Given the description of an element on the screen output the (x, y) to click on. 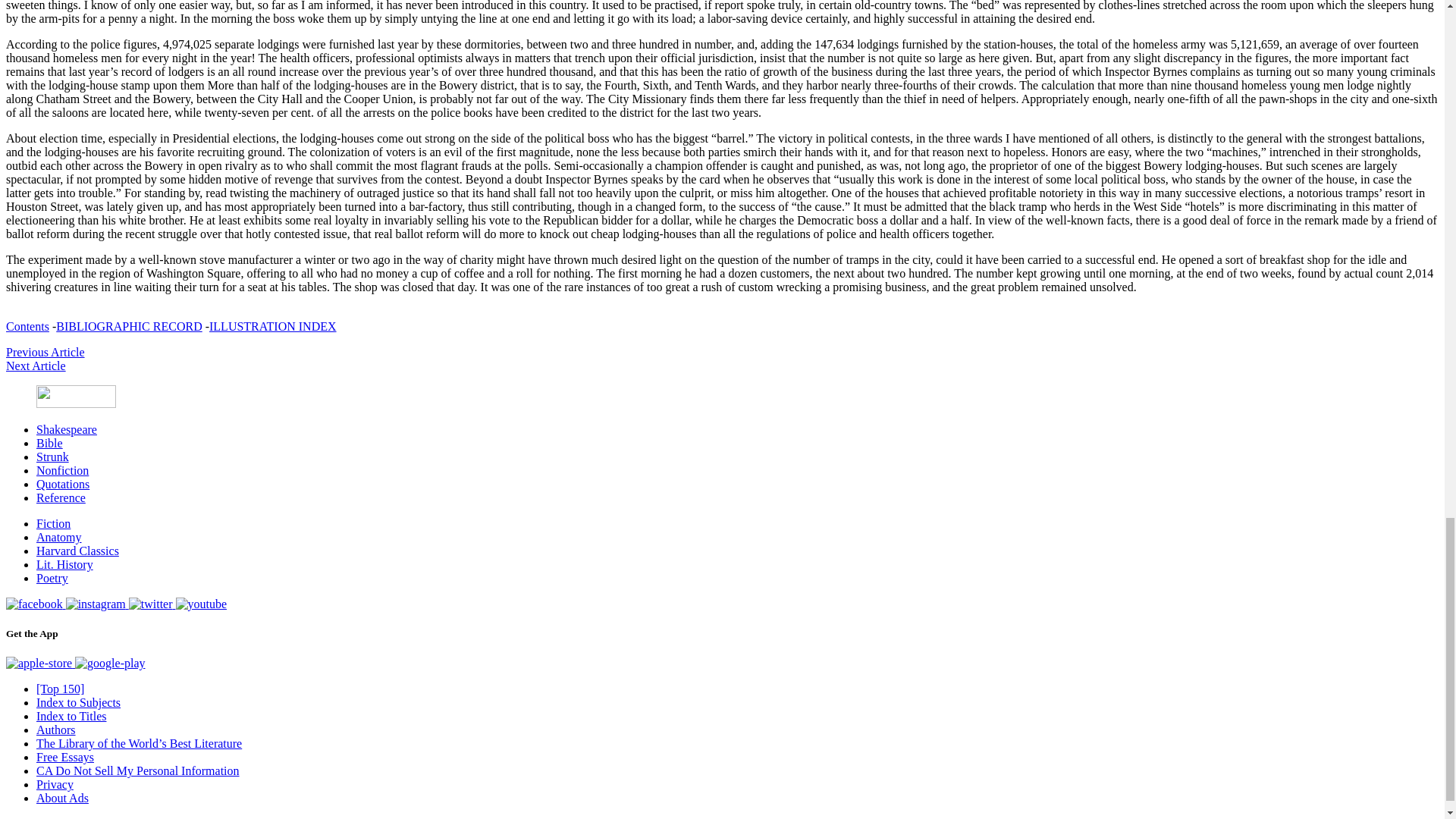
Anatomy (58, 536)
Reference (60, 497)
Contents (27, 326)
Previous Article (44, 351)
Shakespeare (66, 429)
Lit. History (64, 563)
Nonfiction (62, 470)
Quotations (62, 483)
Next Article (35, 365)
Bible (49, 442)
Harvard Classics (77, 550)
Fiction (52, 522)
Strunk (52, 456)
ILLUSTRATION INDEX (272, 326)
BIBLIOGRAPHIC RECORD (129, 326)
